Given the description of an element on the screen output the (x, y) to click on. 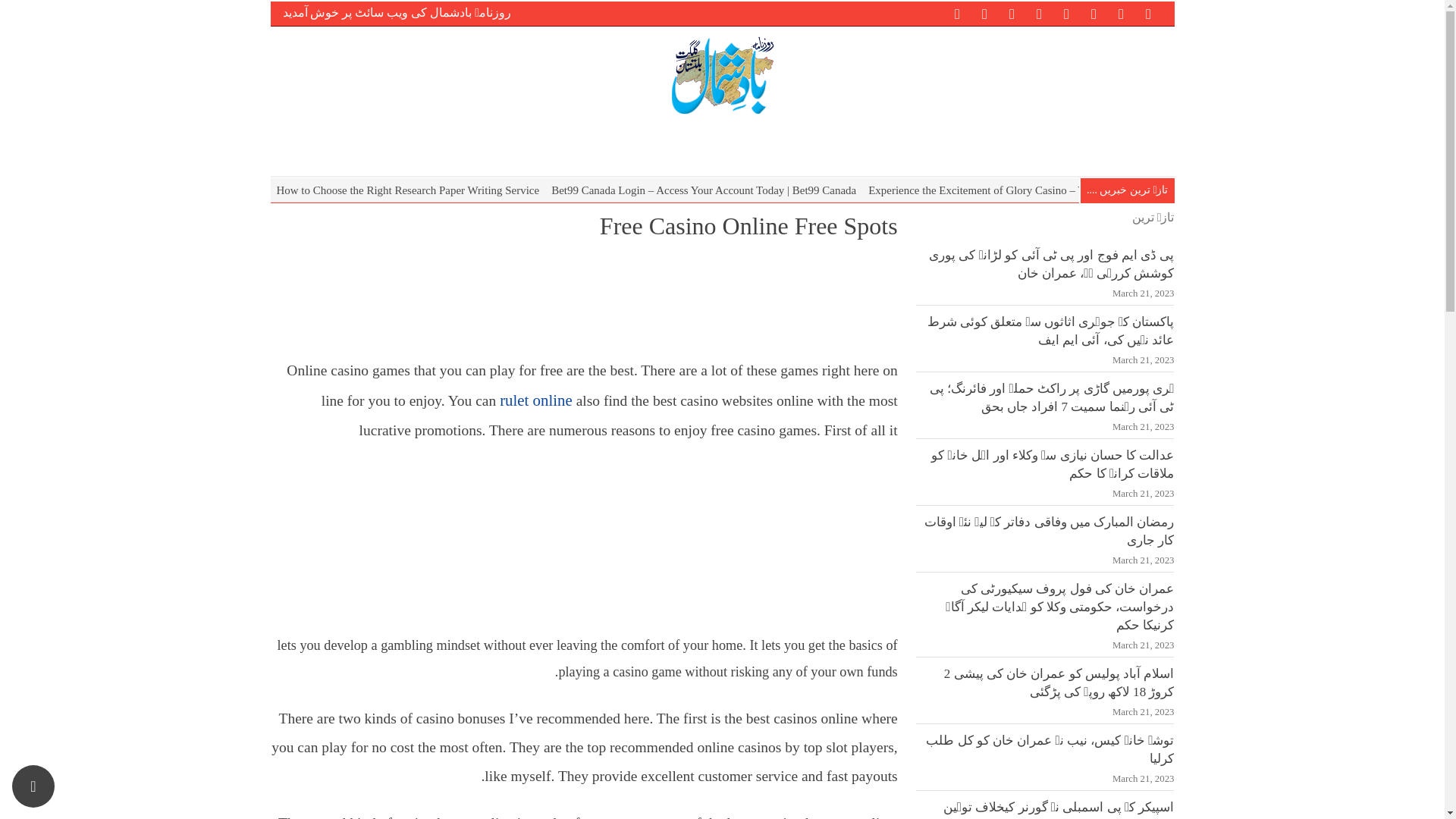
How to Choose the Right Research Paper Writing Service (407, 190)
LinkedIn (1093, 11)
Google Plus (1066, 11)
email (984, 11)
March 21, 2023 (1143, 293)
twitter (1147, 11)
YouTube (1011, 11)
delicious (1038, 11)
March 21, 2023 (1143, 426)
facebook (1120, 11)
